Given the description of an element on the screen output the (x, y) to click on. 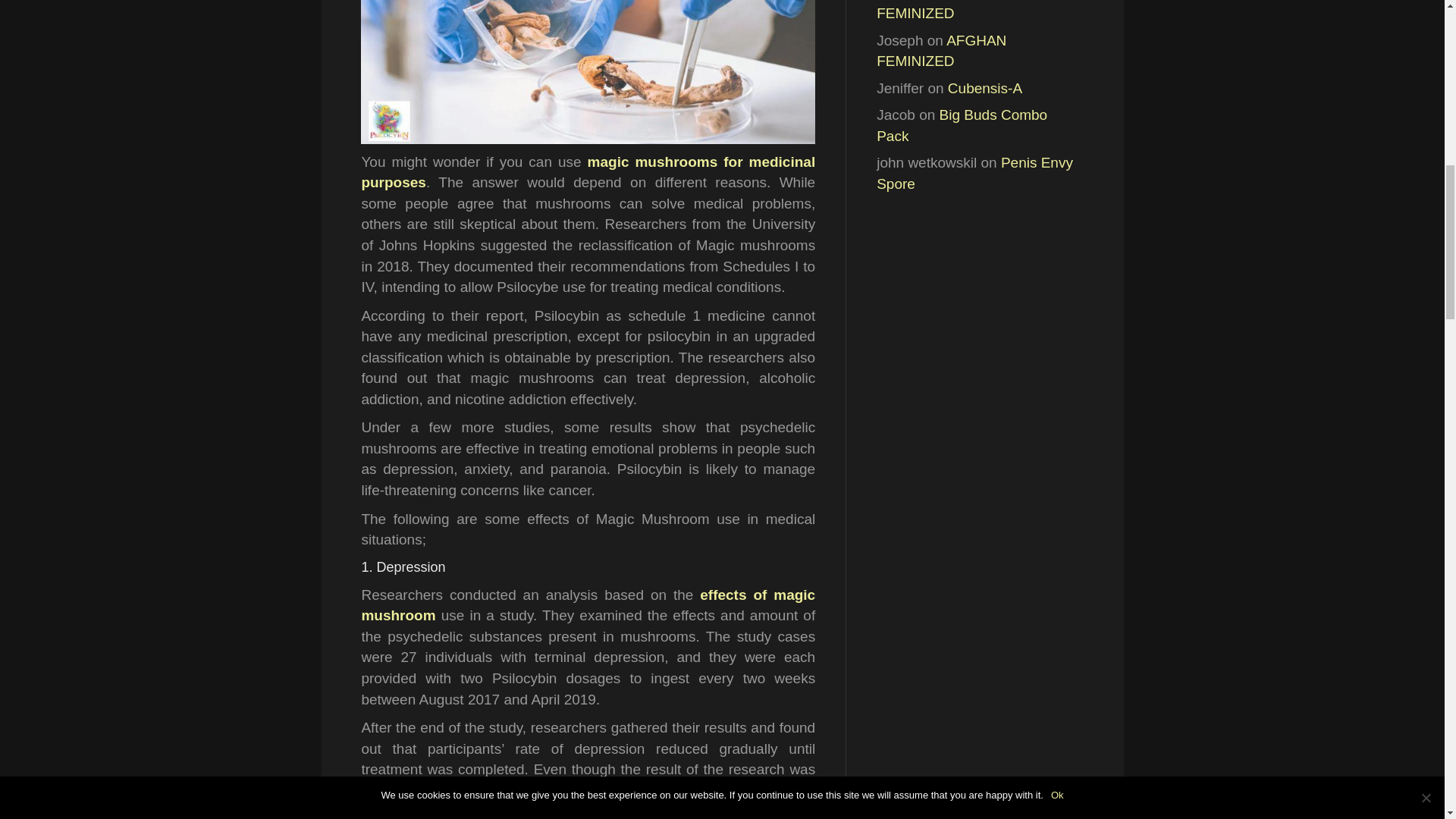
magic mushrooms for medicinal purposes (588, 171)
Big Buds Combo Pack (961, 125)
AMS SUPREME FEMINIZED (960, 11)
AFGHAN FEMINIZED (941, 50)
Cubensis-A (984, 88)
effects of magic mushroom (588, 605)
